Given the description of an element on the screen output the (x, y) to click on. 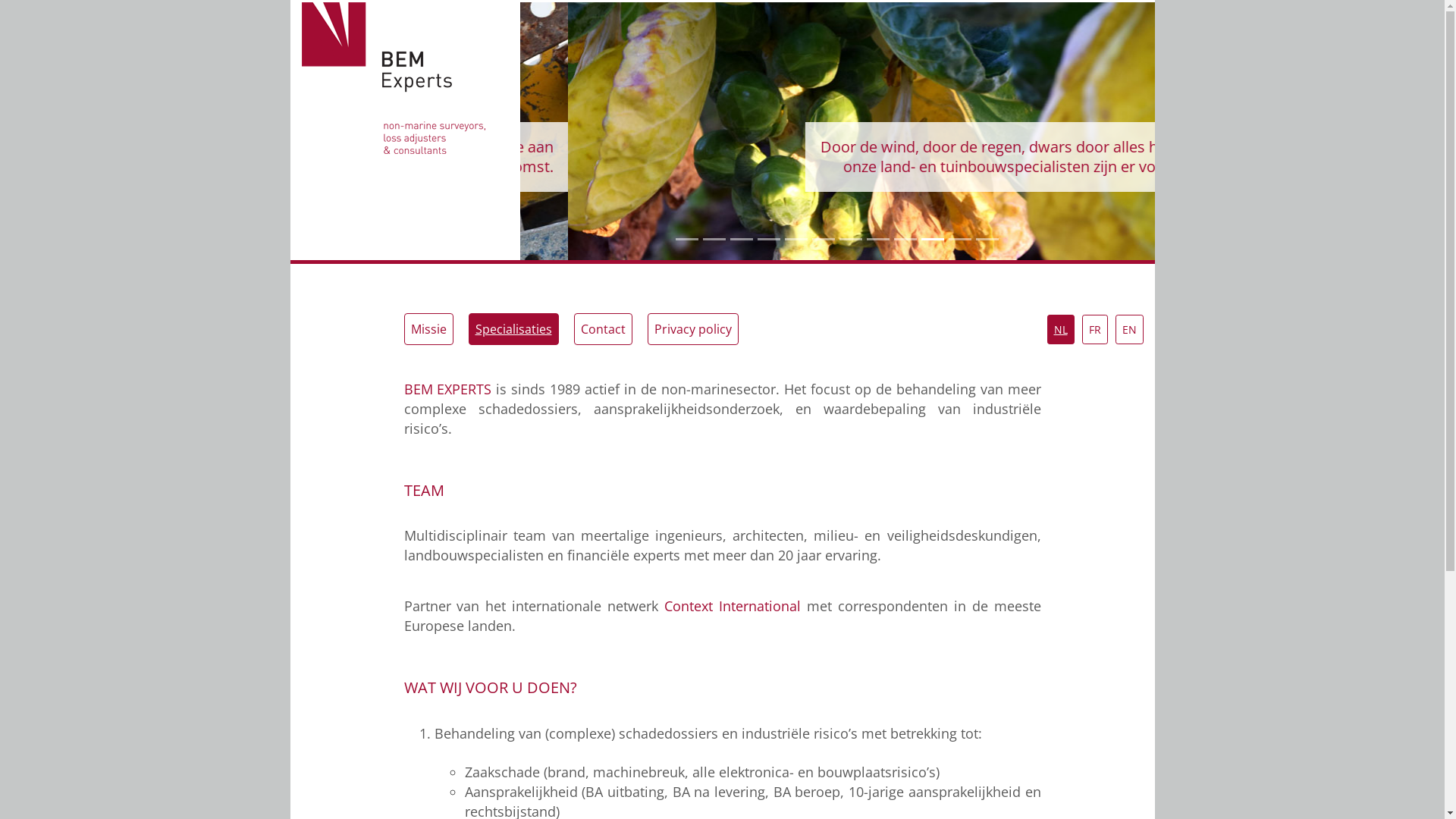
Privacy policy Element type: text (692, 329)
Missie
(current) Element type: text (427, 329)
FR Element type: text (1094, 328)
Context International Element type: text (732, 605)
EN Element type: text (1128, 328)
Specialisaties Element type: text (513, 329)
NL Element type: text (1059, 328)
Contact Element type: text (602, 329)
